Given the description of an element on the screen output the (x, y) to click on. 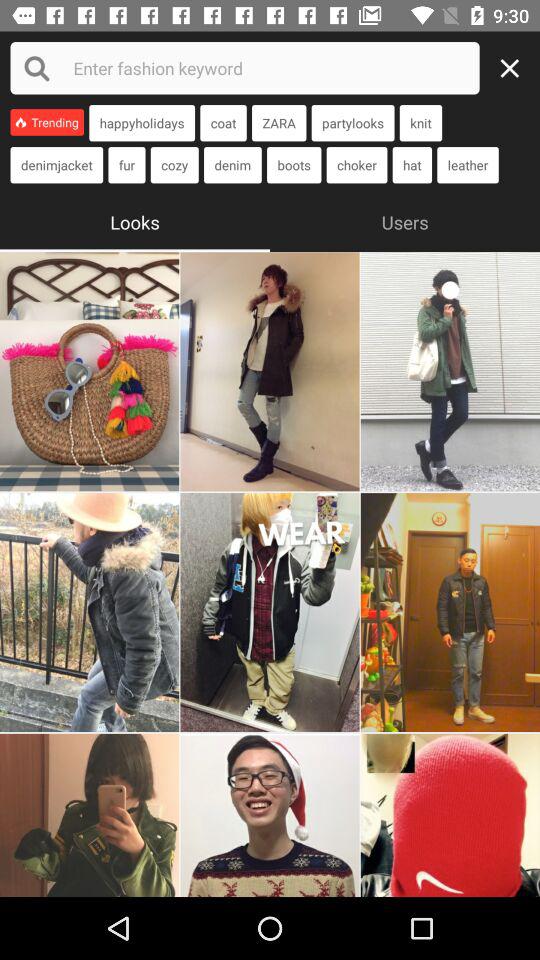
open icon next to looks (405, 220)
